Given the description of an element on the screen output the (x, y) to click on. 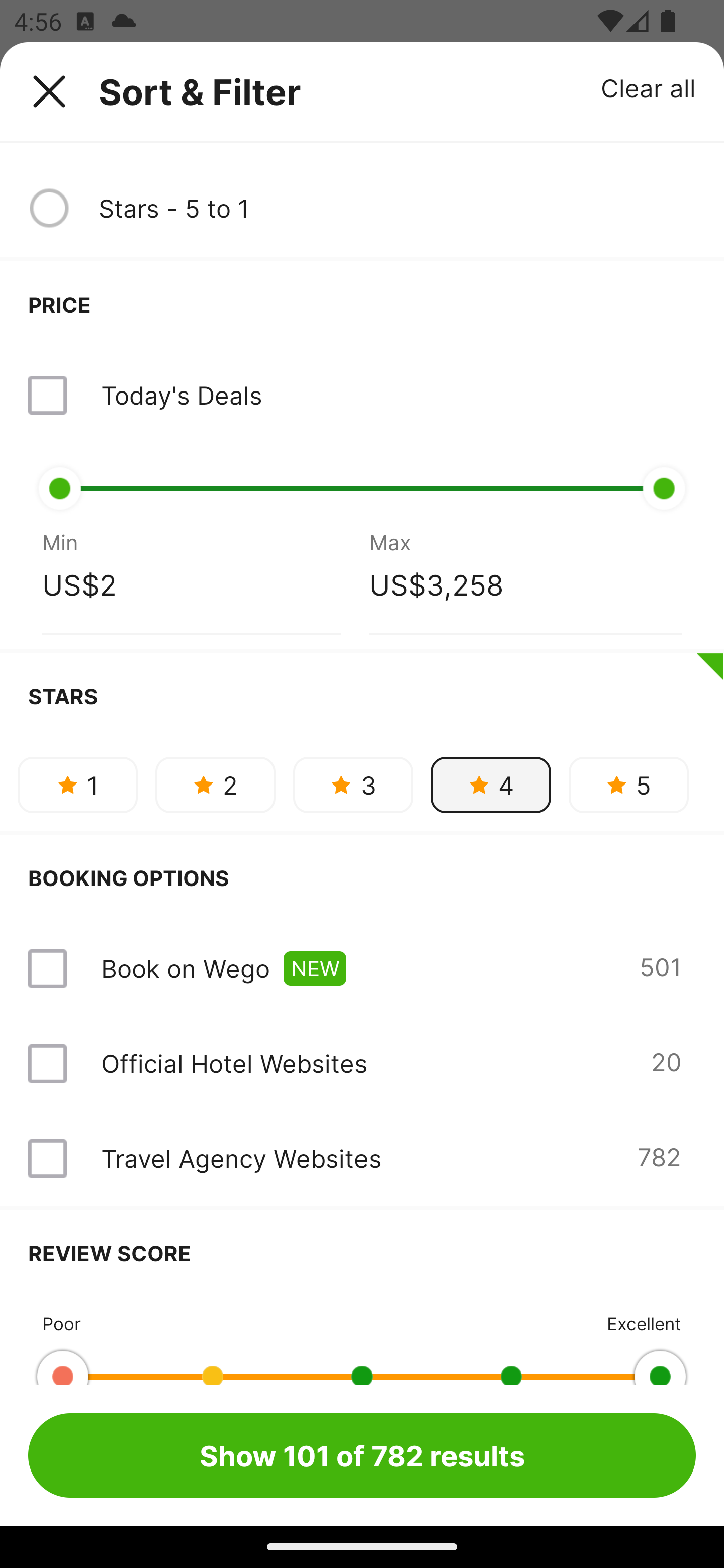
Clear all (648, 87)
Stars - 5 to 1 (396, 207)
Today's Deals (362, 395)
Today's Deals (181, 394)
1 (77, 785)
2 (214, 785)
3 (352, 785)
4 (491, 785)
5 (627, 785)
Book on Wego NEW 501 (362, 968)
Book on Wego (184, 968)
Official Hotel Websites 20 (362, 1063)
Official Hotel Websites (233, 1062)
Travel Agency Websites 782 (362, 1158)
Travel Agency Websites (240, 1158)
Poor Excellent (362, 1340)
Show 101 of 782 results (361, 1454)
